Given the description of an element on the screen output the (x, y) to click on. 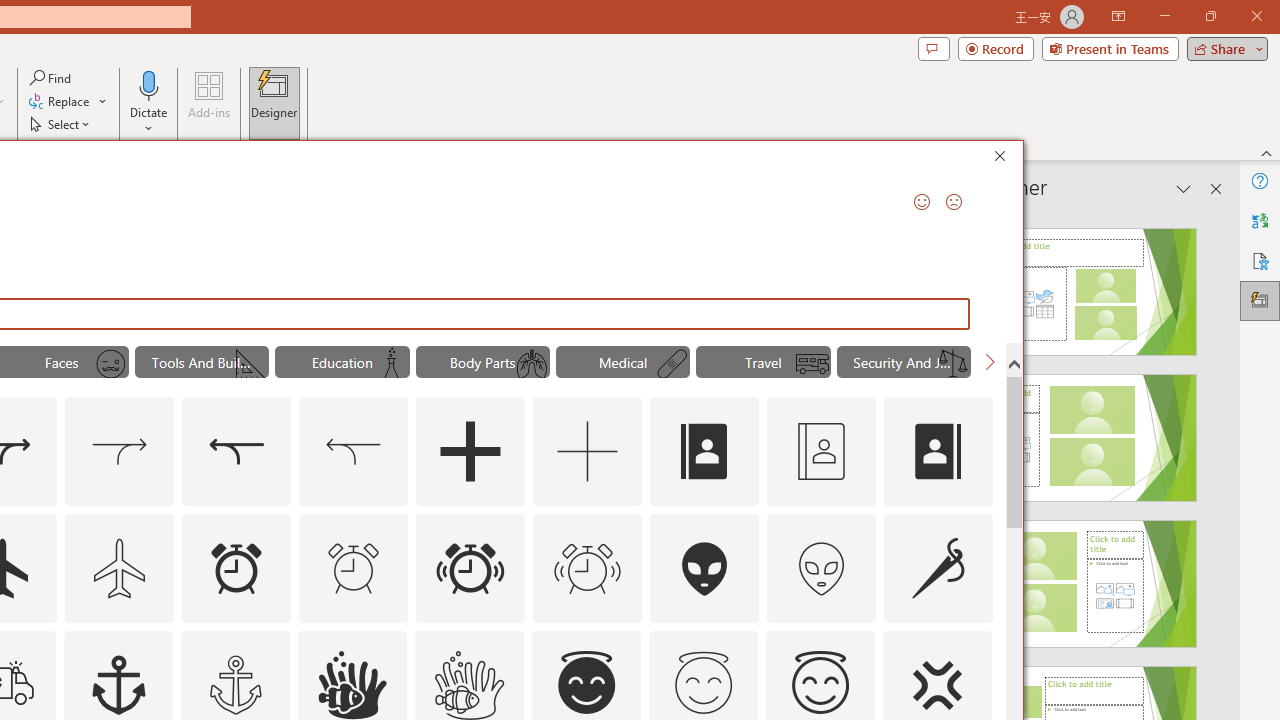
AutomationID: Icons_MoustacheFace_M (111, 364)
